Given the description of an element on the screen output the (x, y) to click on. 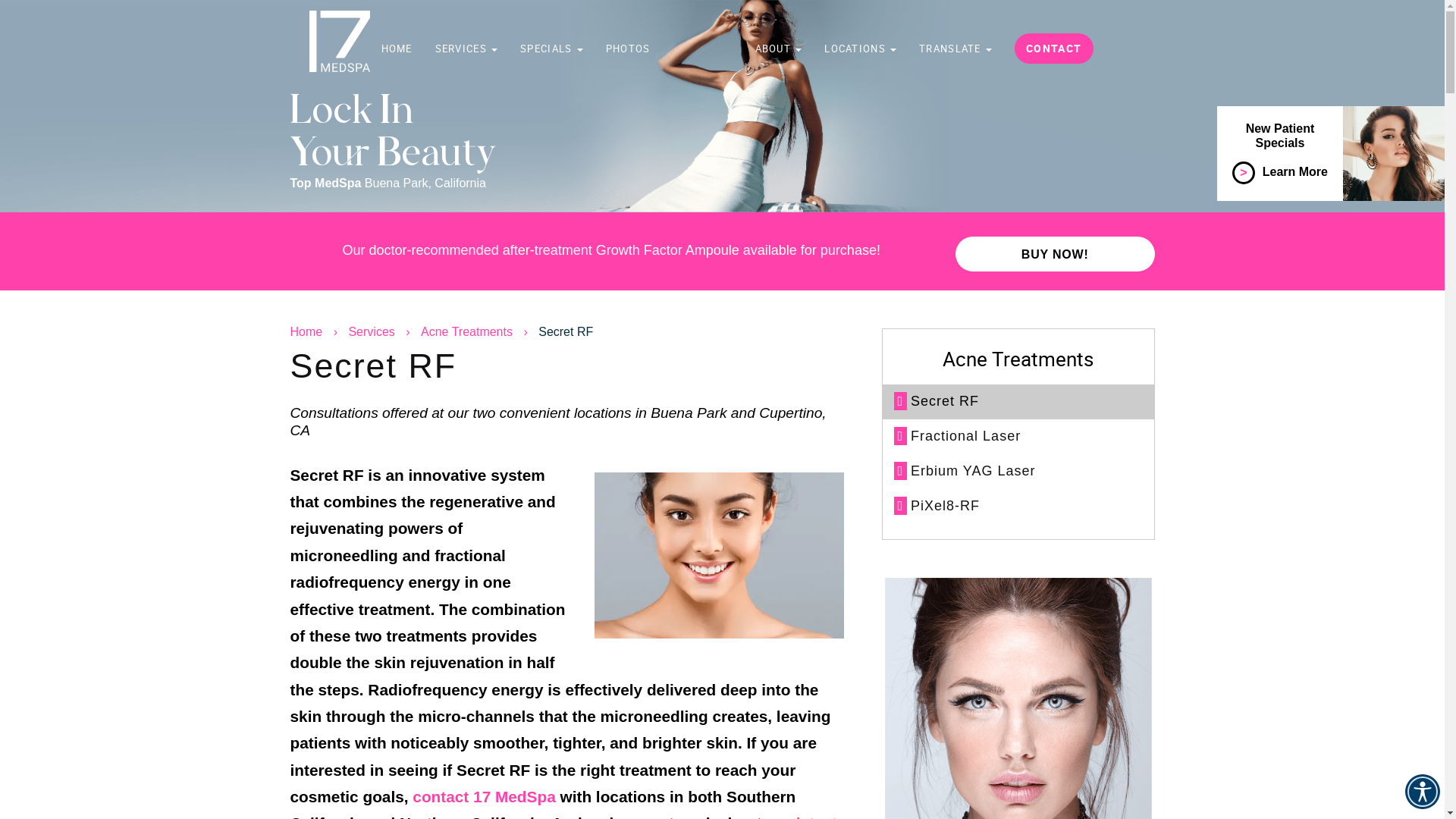
ABOUT Element type: text (778, 48)
Services Element type: text (370, 331)
Secret RF Element type: text (1018, 401)
New Patient Specials
>
Learn More Element type: text (1330, 157)
BUY NOW! Element type: text (1054, 253)
Fractional Laser Element type: text (1018, 436)
PiXel8-RF Element type: text (1018, 506)
Acne Treatments Element type: text (466, 331)
HOME Element type: text (396, 48)
LOCATIONS Element type: text (859, 48)
PHOTOS Element type: text (628, 48)
Home Element type: text (309, 331)
SPECIALS Element type: text (551, 48)
Erbium YAG Laser Element type: text (1018, 471)
SERVICES Element type: text (466, 48)
contact 17 MedSpa Element type: text (483, 796)
CONTACT Element type: text (1053, 48)
TRANSLATE Element type: text (955, 48)
